Given the description of an element on the screen output the (x, y) to click on. 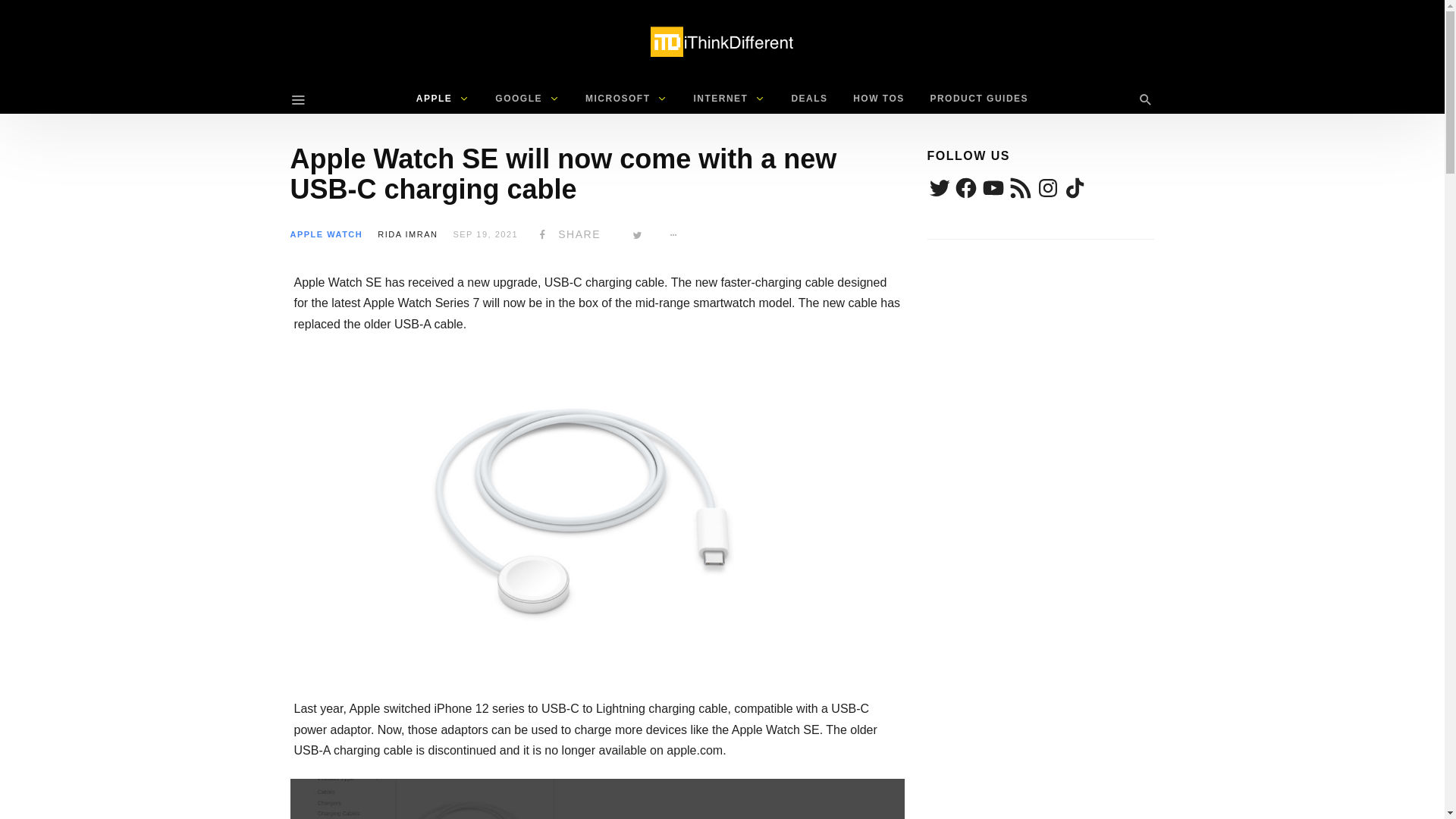
Posts by Rida Imran (407, 234)
View all posts in Apple Watch (325, 234)
SHARE (566, 234)
INTERNET (728, 98)
MICROSOFT (626, 98)
APPLE (442, 98)
More (673, 234)
RIDA IMRAN (407, 234)
HOW TOS (878, 98)
DEALS (808, 98)
APPLE WATCH (325, 234)
PRODUCT GUIDES (978, 98)
Share on Twitter (637, 234)
GOOGLE (526, 98)
Share on Facebook (566, 234)
